Given the description of an element on the screen output the (x, y) to click on. 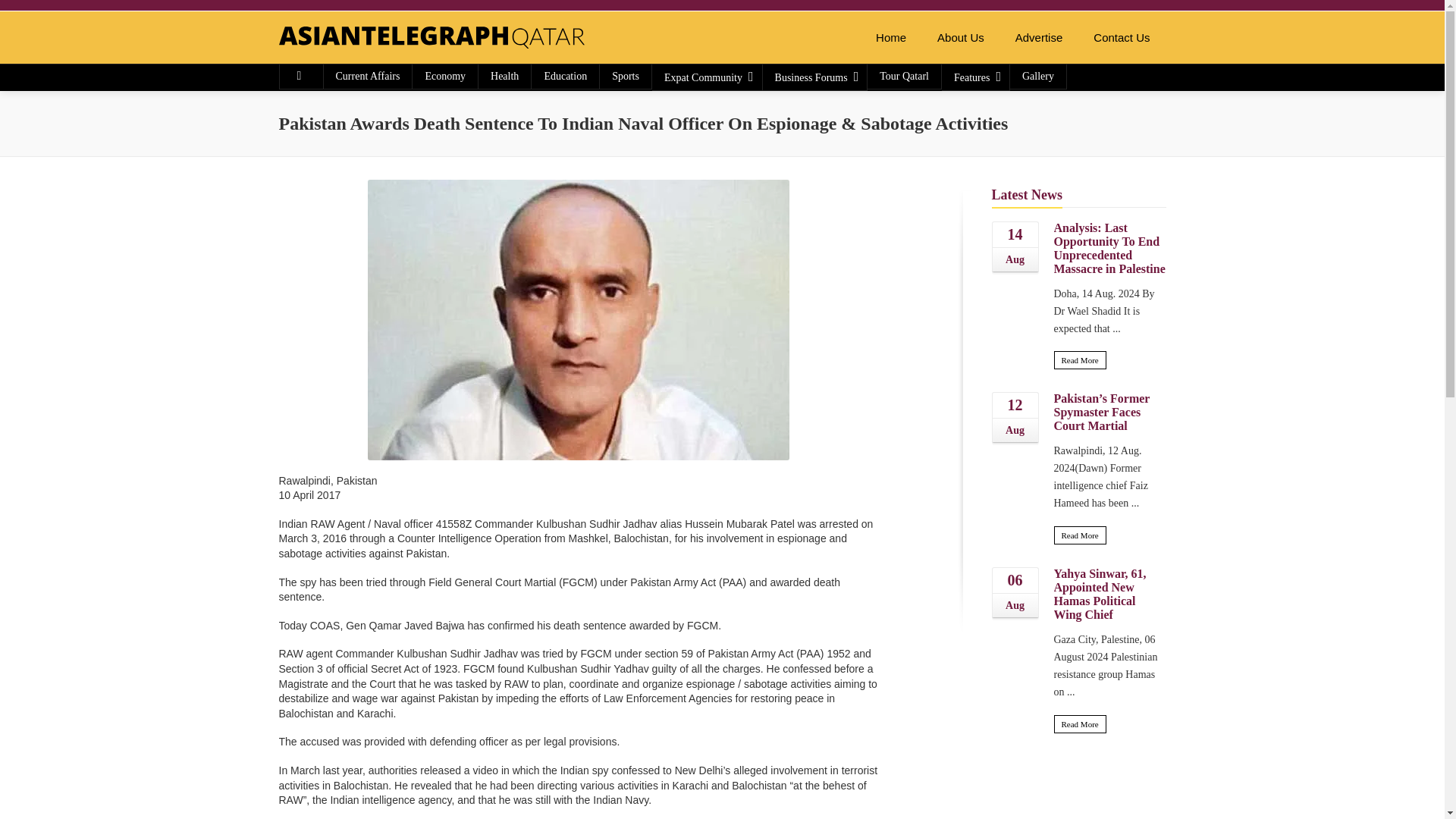
Features (975, 77)
Expat Community (706, 77)
Economy (444, 76)
Business Forums (814, 77)
Tour Qatarl (903, 76)
Contact Us (1121, 37)
Home (890, 37)
Read More (1080, 360)
Health (505, 76)
